Given the description of an element on the screen output the (x, y) to click on. 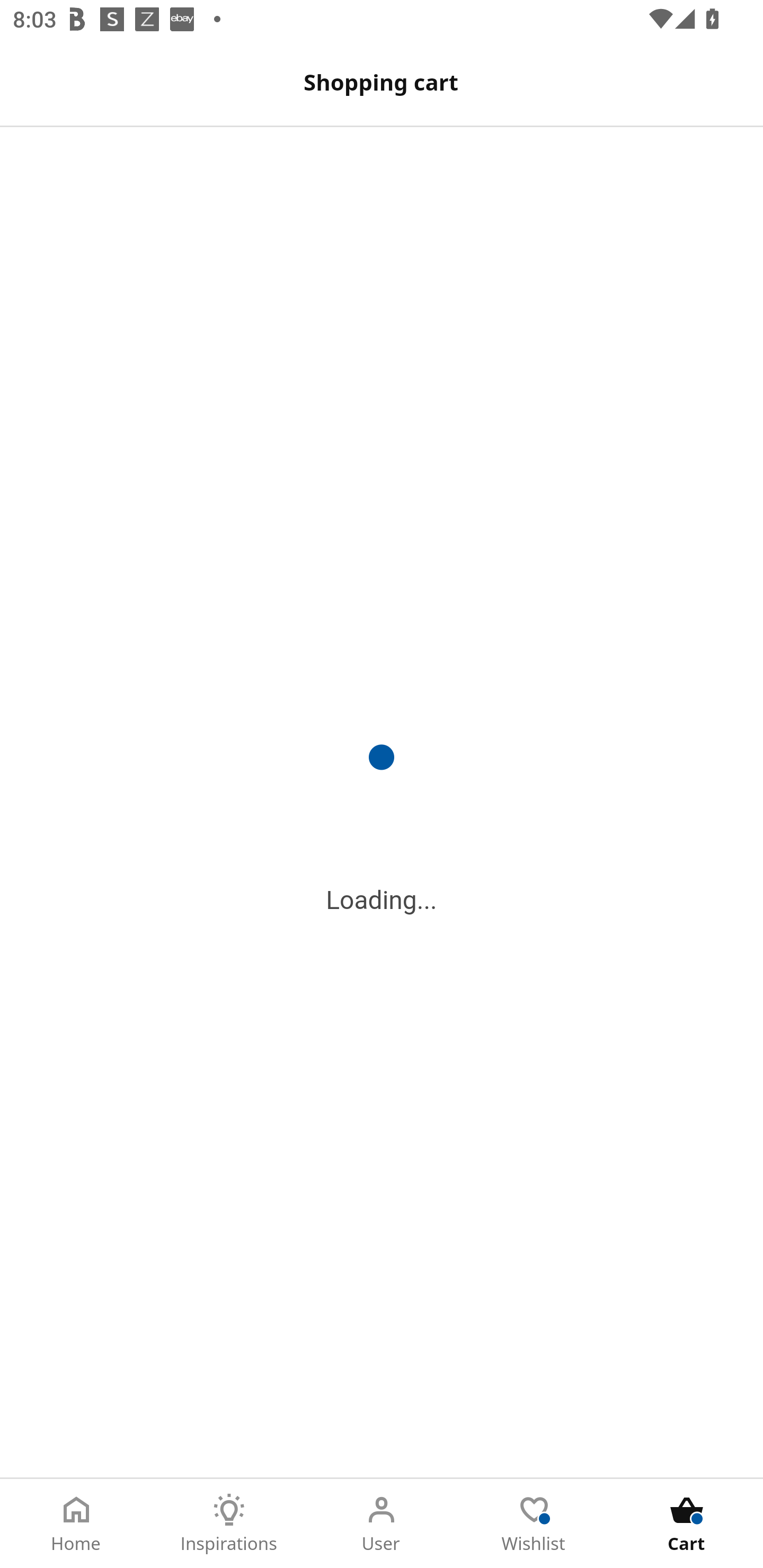
Home
Tab 1 of 5 (76, 1522)
Inspirations
Tab 2 of 5 (228, 1522)
User
Tab 3 of 5 (381, 1522)
Wishlist
Tab 4 of 5 (533, 1522)
Cart
Tab 5 of 5 (686, 1522)
